Given the description of an element on the screen output the (x, y) to click on. 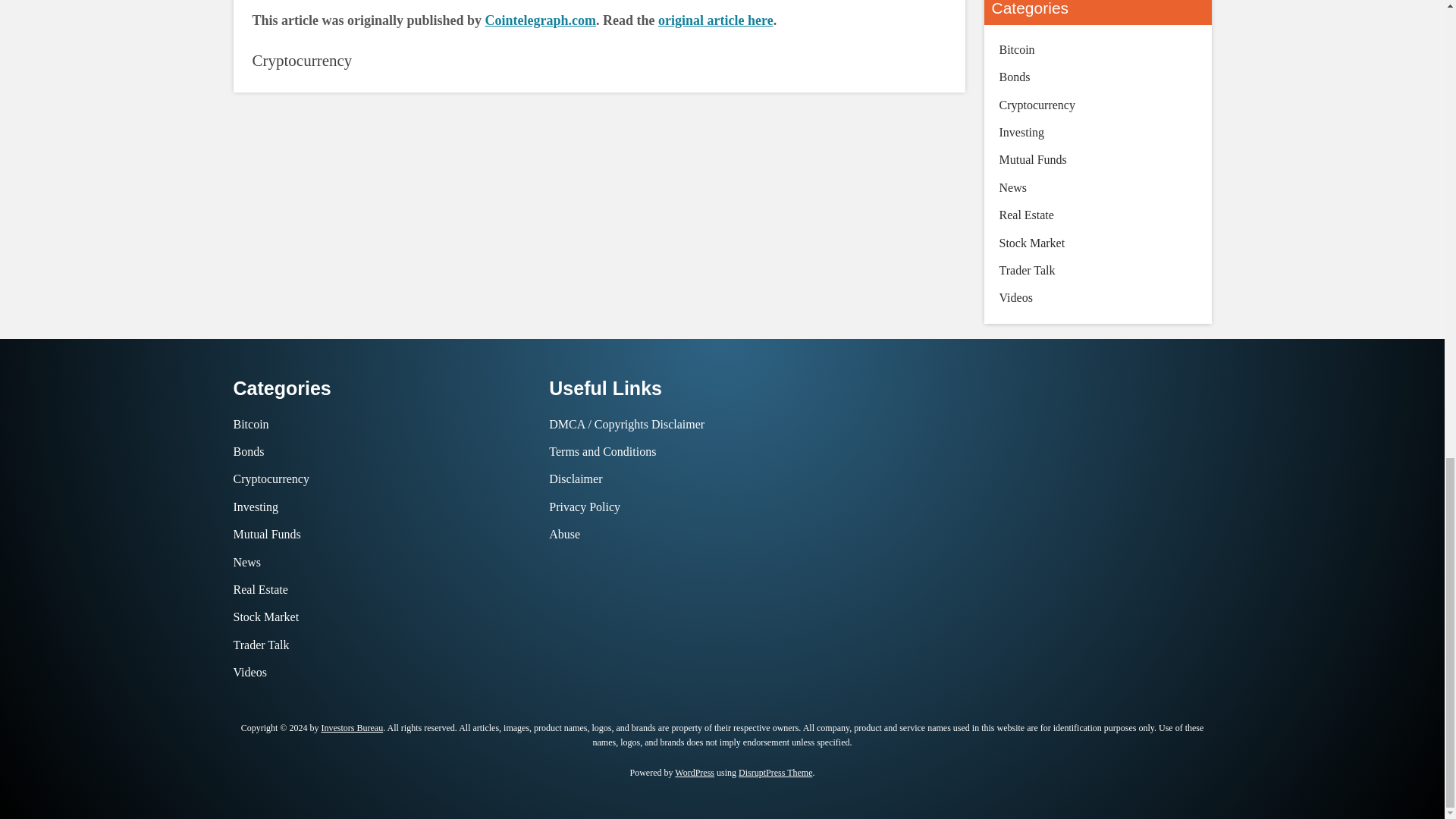
Cryptocurrency (301, 59)
